Given the description of an element on the screen output the (x, y) to click on. 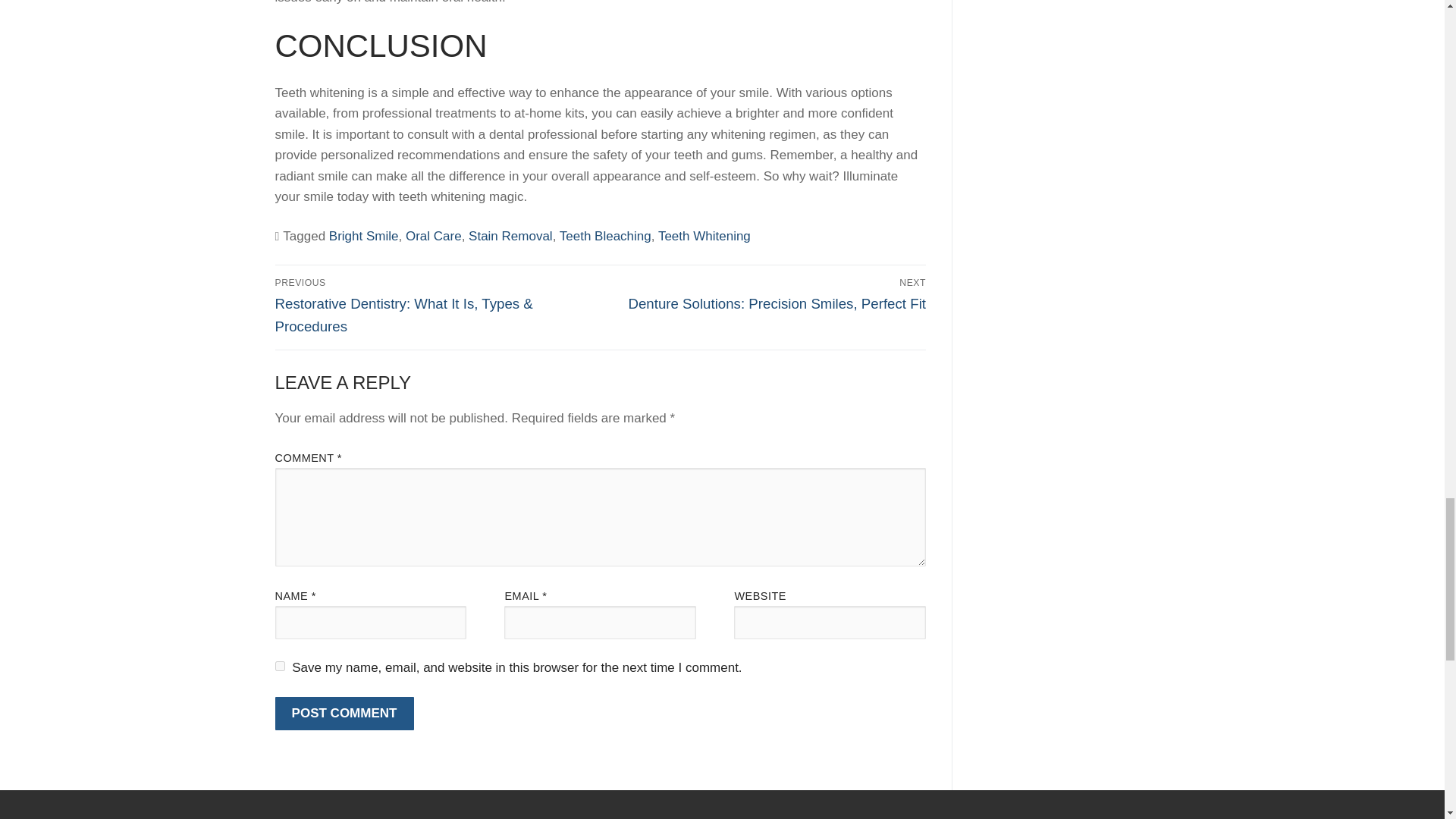
Teeth Whitening (704, 236)
Teeth Bleaching (604, 236)
Bright Smile (363, 236)
Post Comment (344, 713)
yes (279, 665)
Stain Removal (510, 236)
Oral Care (433, 236)
